Given the description of an element on the screen output the (x, y) to click on. 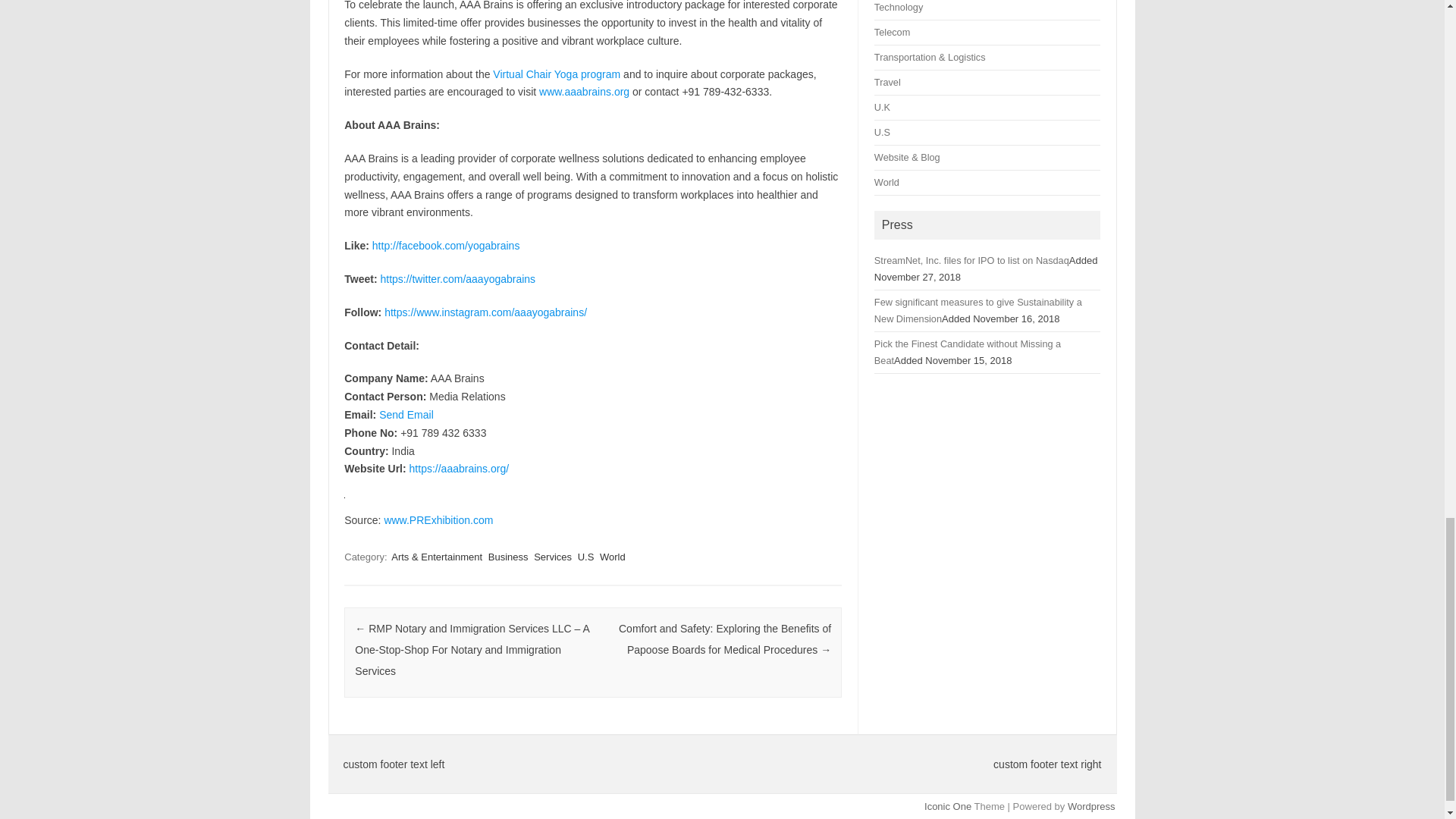
World (612, 556)
Virtual Chair Yoga program (556, 73)
www.PRExhibition.com (438, 520)
www.aaabrains.org (583, 91)
Send Email (405, 414)
Business (507, 556)
Services (552, 556)
U.S (585, 556)
